Given the description of an element on the screen output the (x, y) to click on. 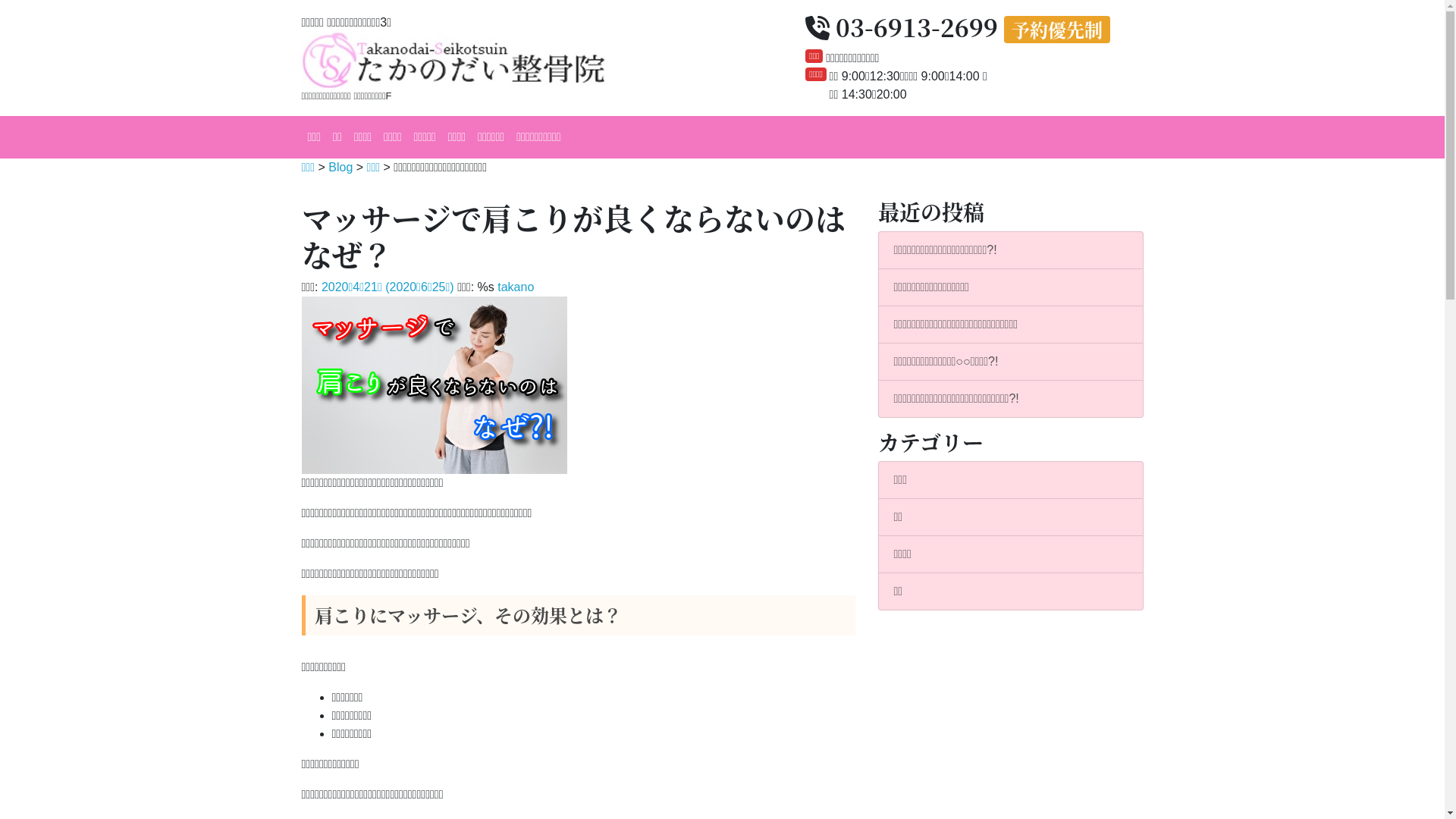
Blog Element type: text (340, 166)
takano Element type: text (515, 286)
